Given the description of an element on the screen output the (x, y) to click on. 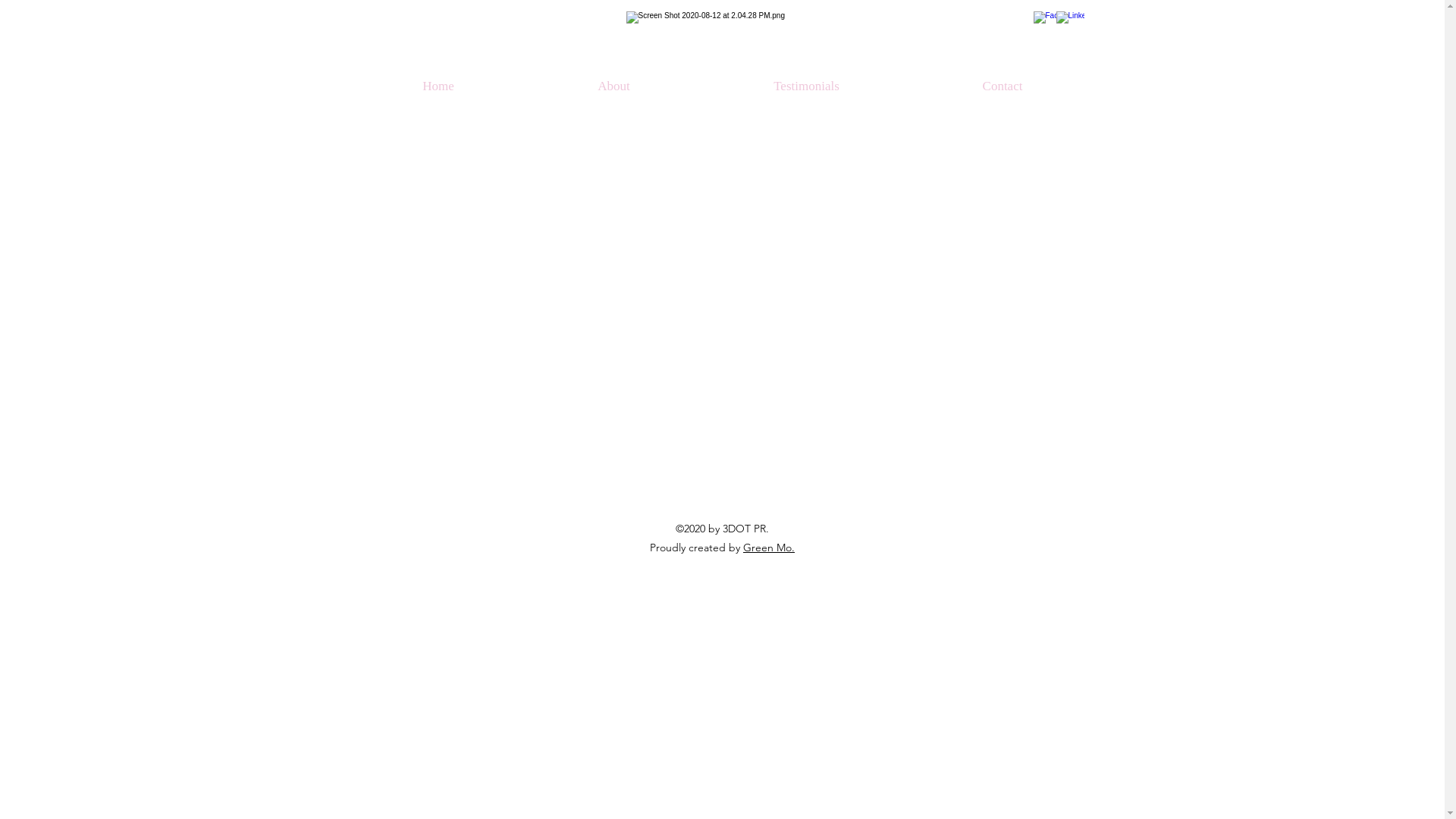
Home Element type: text (437, 86)
Green Mo. Element type: text (768, 547)
Contact Element type: text (1002, 86)
Testimonials Element type: text (806, 86)
About Element type: text (614, 86)
